Given the description of an element on the screen output the (x, y) to click on. 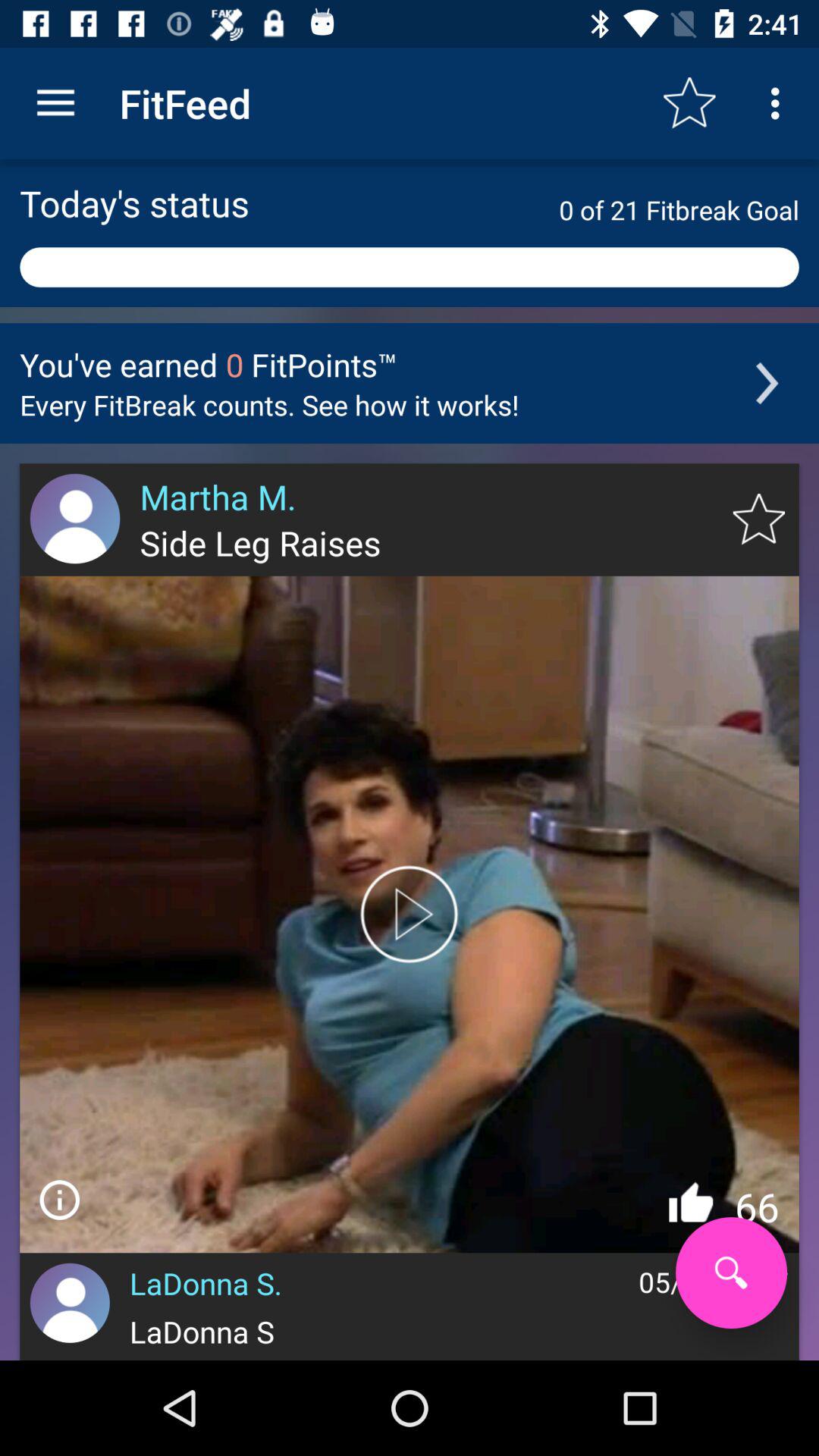
menu option (59, 1199)
